Given the description of an element on the screen output the (x, y) to click on. 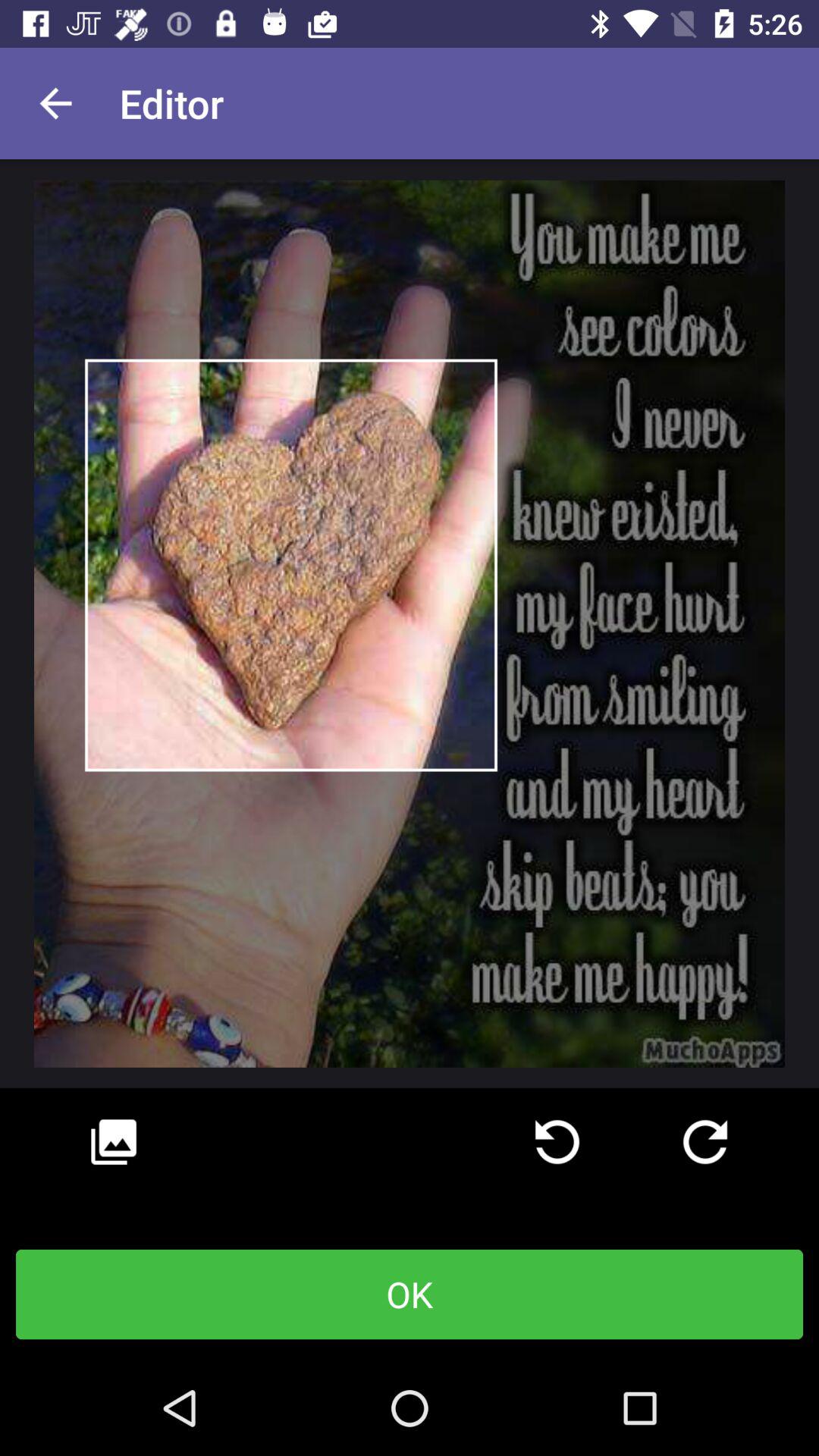
select the app next to editor app (55, 103)
